Given the description of an element on the screen output the (x, y) to click on. 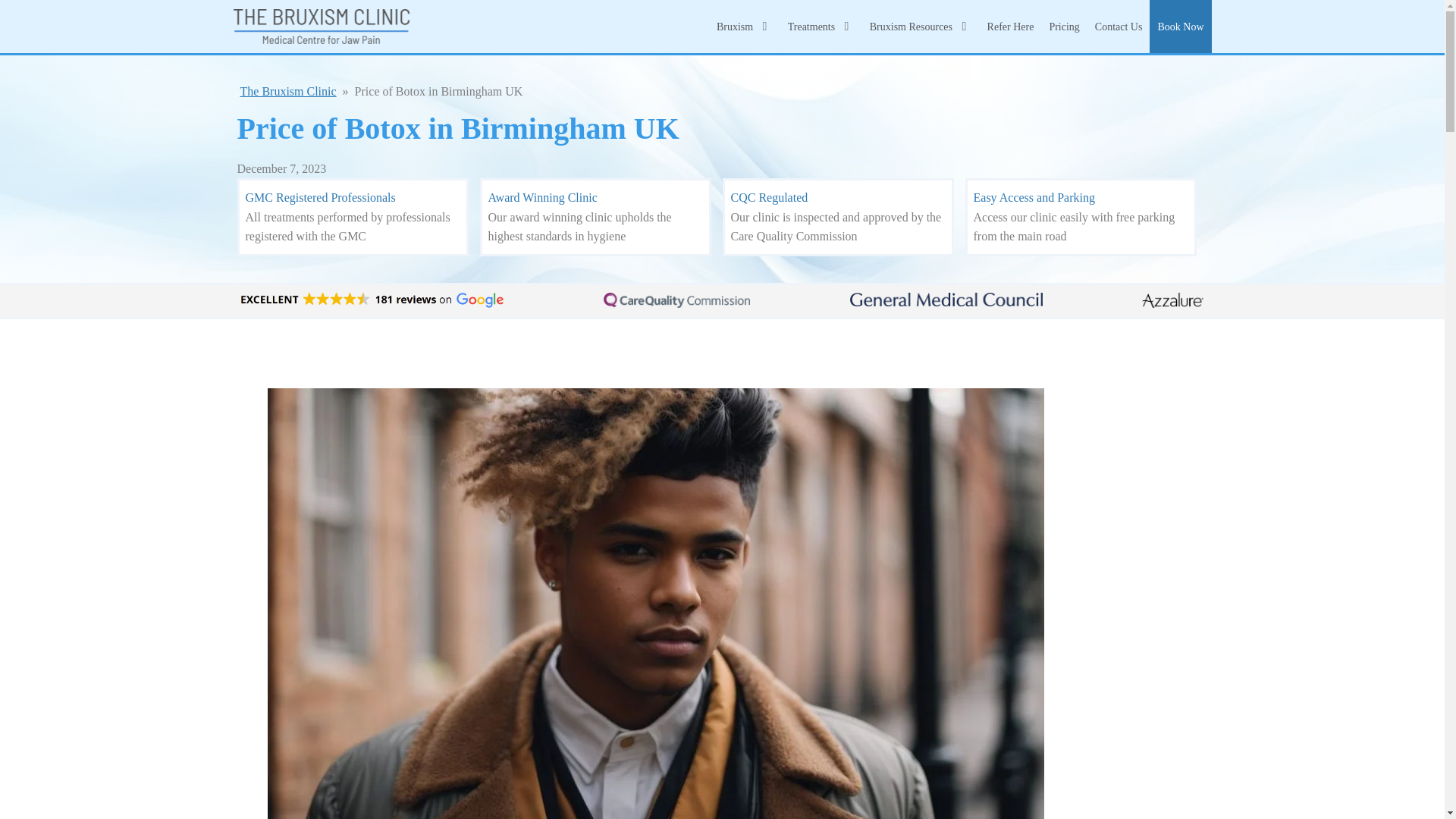
Contact Us (1118, 25)
Breadcrumb link to The Bruxism Clinic (288, 91)
Bruxism (744, 25)
Treatments (820, 25)
Book Now (1180, 25)
Bruxism Resources (920, 25)
Refer Here (1010, 25)
